Given the description of an element on the screen output the (x, y) to click on. 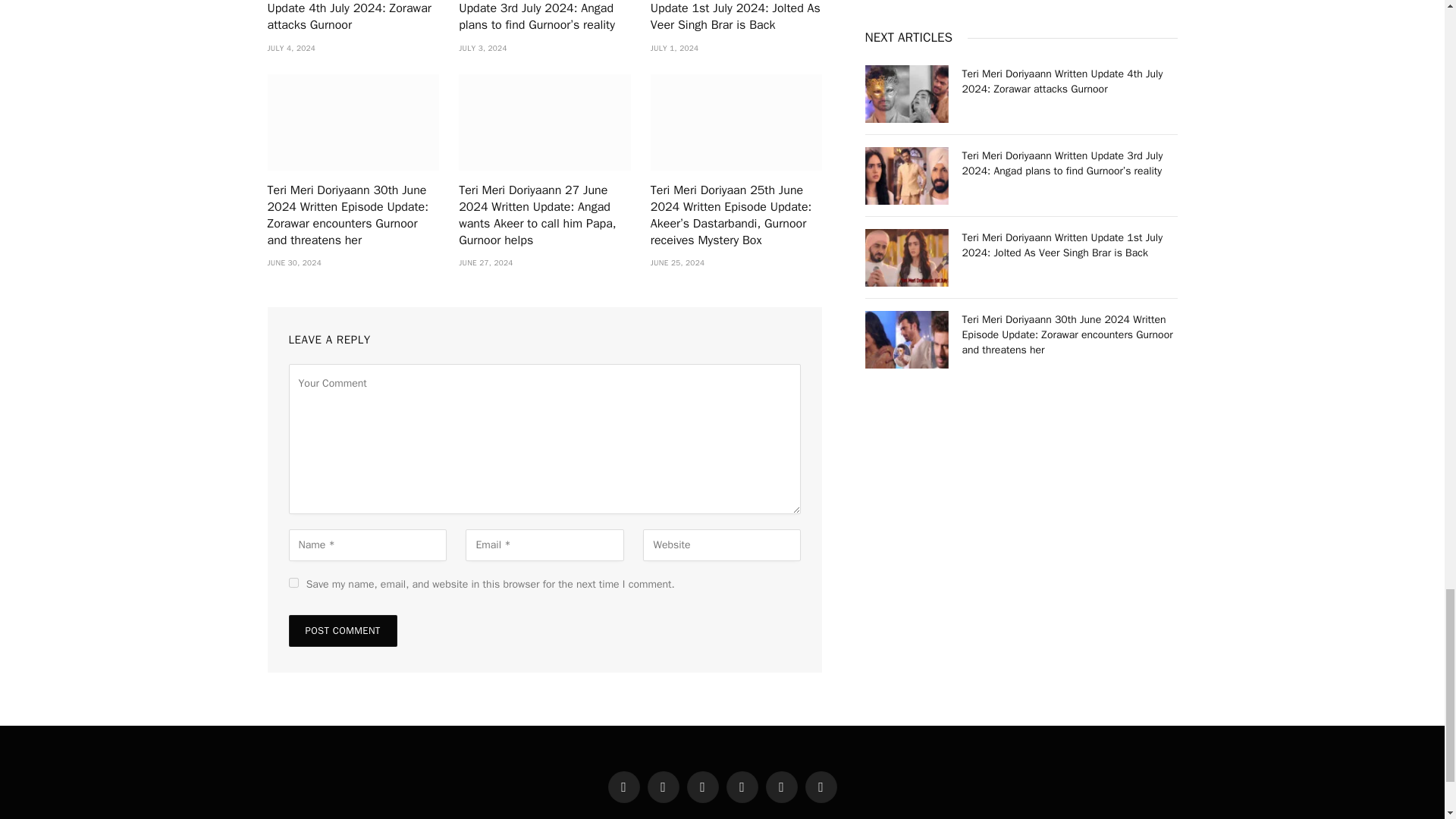
Post Comment (342, 631)
yes (293, 583)
